Given the description of an element on the screen output the (x, y) to click on. 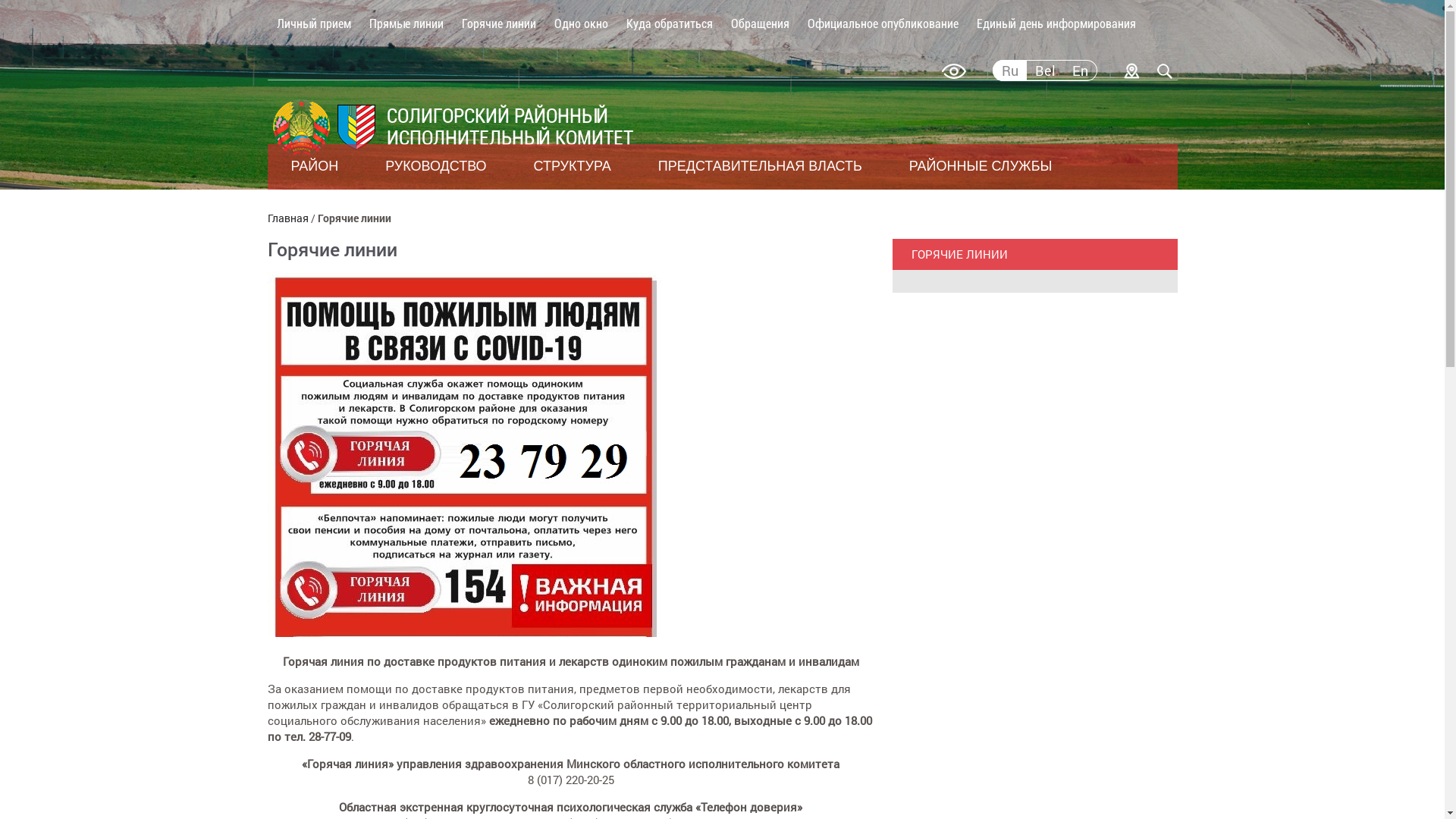
Ru Element type: text (1008, 70)
Bel Element type: text (1044, 70)
En Element type: text (1079, 70)
